Given the description of an element on the screen output the (x, y) to click on. 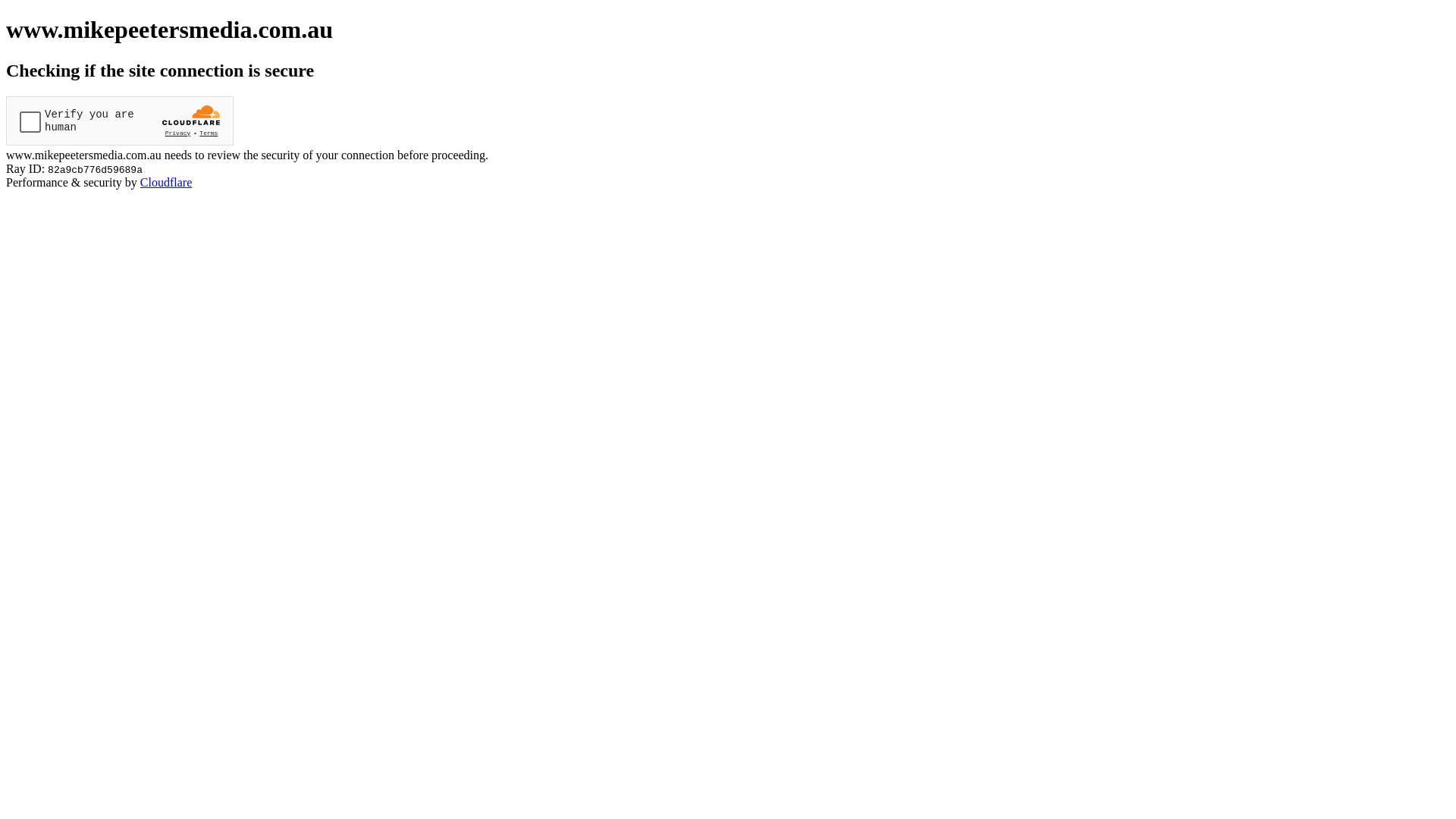
Cloudflare Element type: text (165, 181)
Widget containing a Cloudflare security challenge Element type: hover (119, 120)
